Given the description of an element on the screen output the (x, y) to click on. 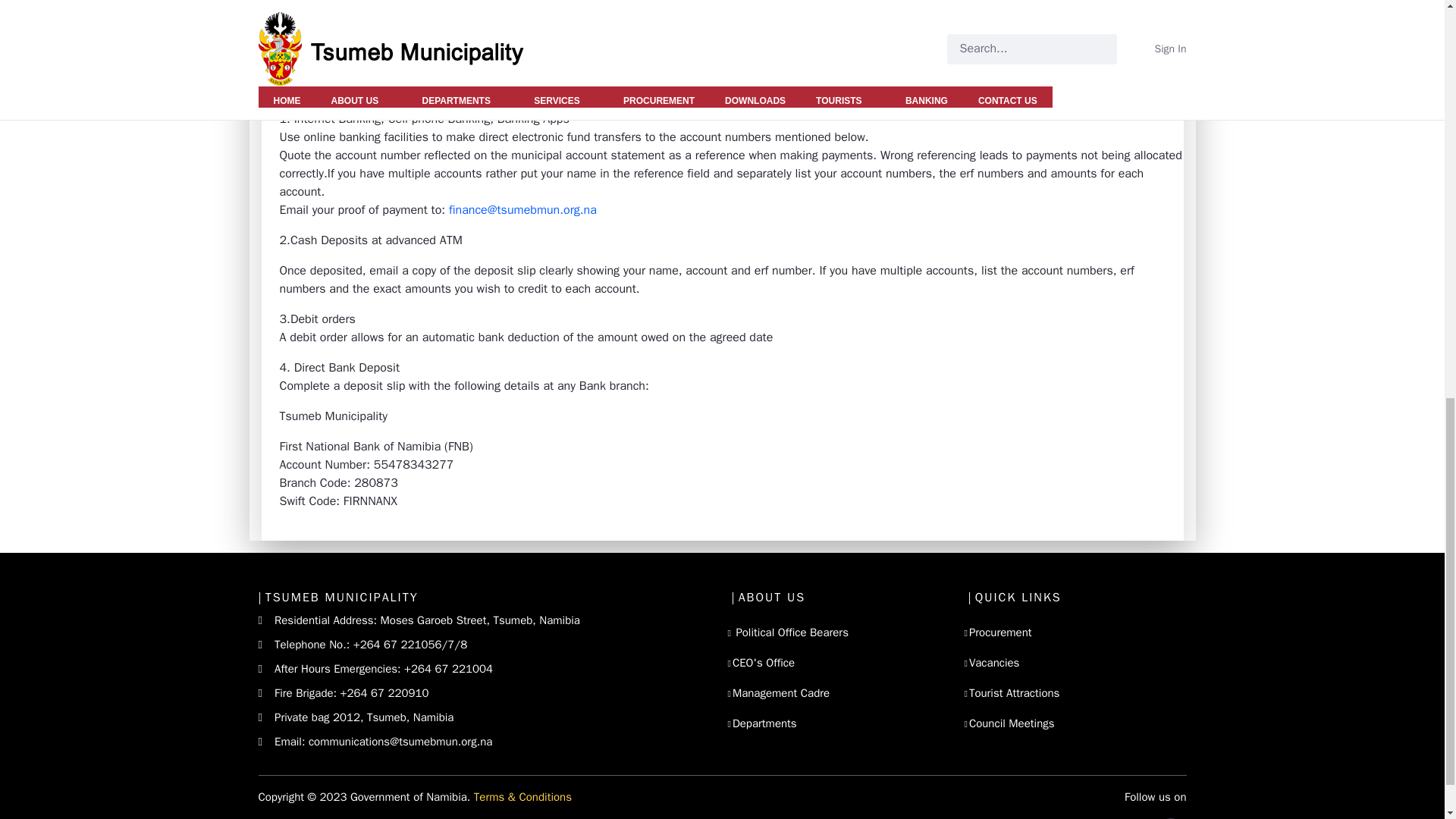
Management Cadre (780, 693)
CEO's Office (763, 662)
Political Office Bearers (790, 632)
